Given the description of an element on the screen output the (x, y) to click on. 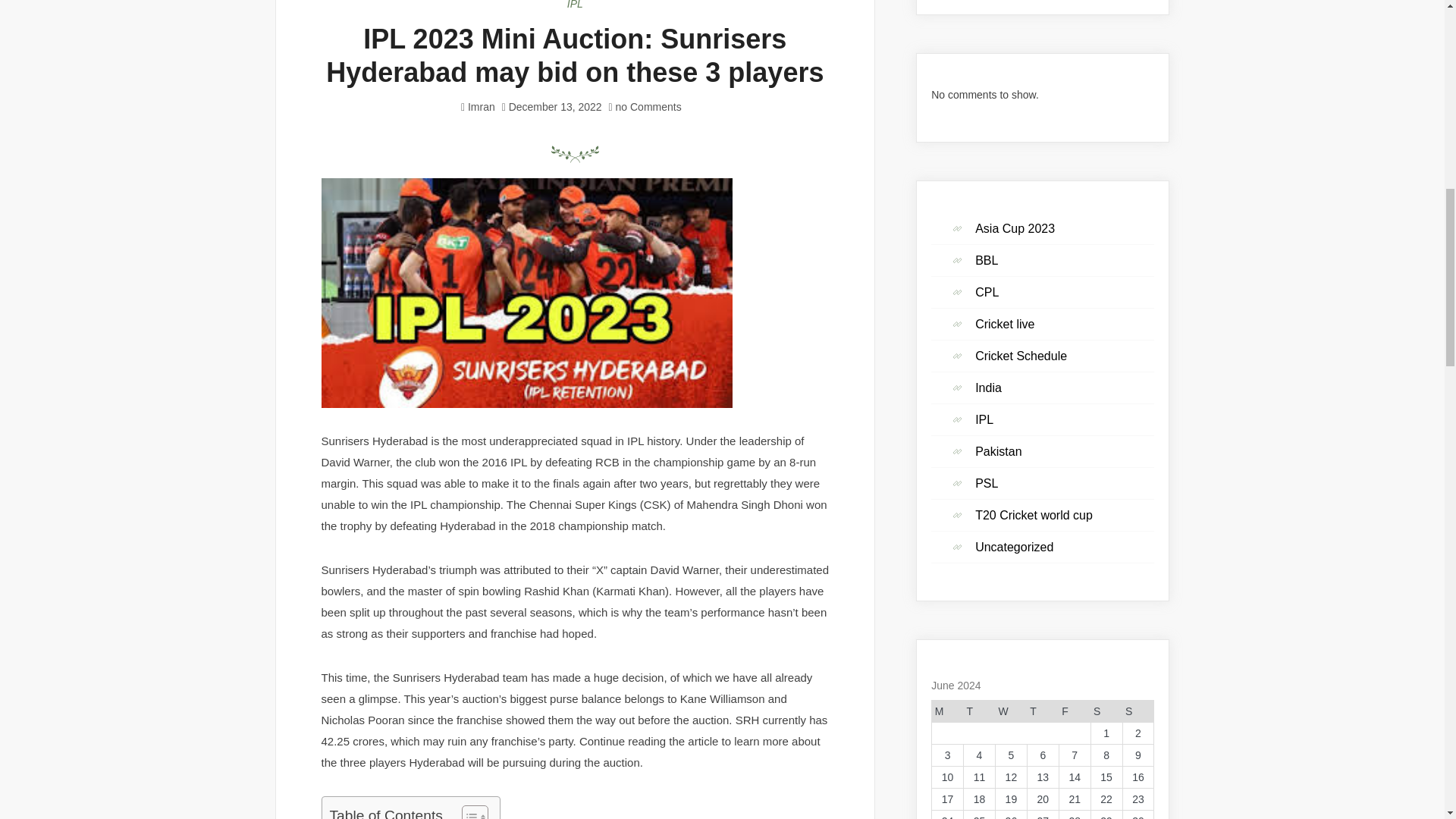
Wednesday (1010, 711)
Thursday (1042, 711)
Monday (947, 711)
Posts by Imran (481, 106)
Saturday (1106, 711)
Imran (481, 106)
Sunday (1138, 711)
Friday (1074, 711)
Tuesday (979, 711)
